Given the description of an element on the screen output the (x, y) to click on. 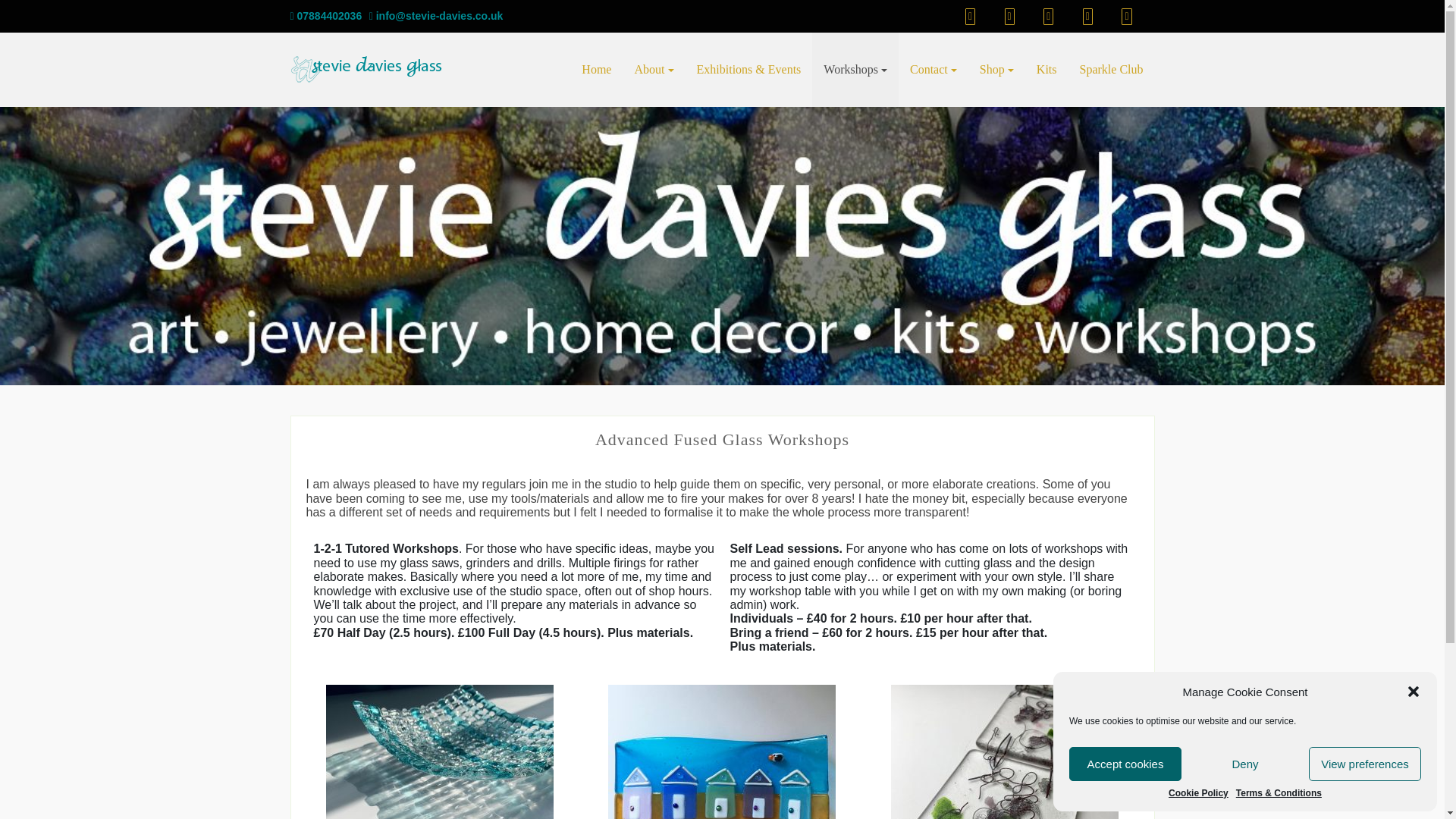
Contact (933, 69)
07884402036 (325, 15)
View preferences (1364, 763)
Accept cookies (1124, 763)
Deny (1245, 763)
Cookie Policy (1198, 793)
Workshops (855, 69)
